Given the description of an element on the screen output the (x, y) to click on. 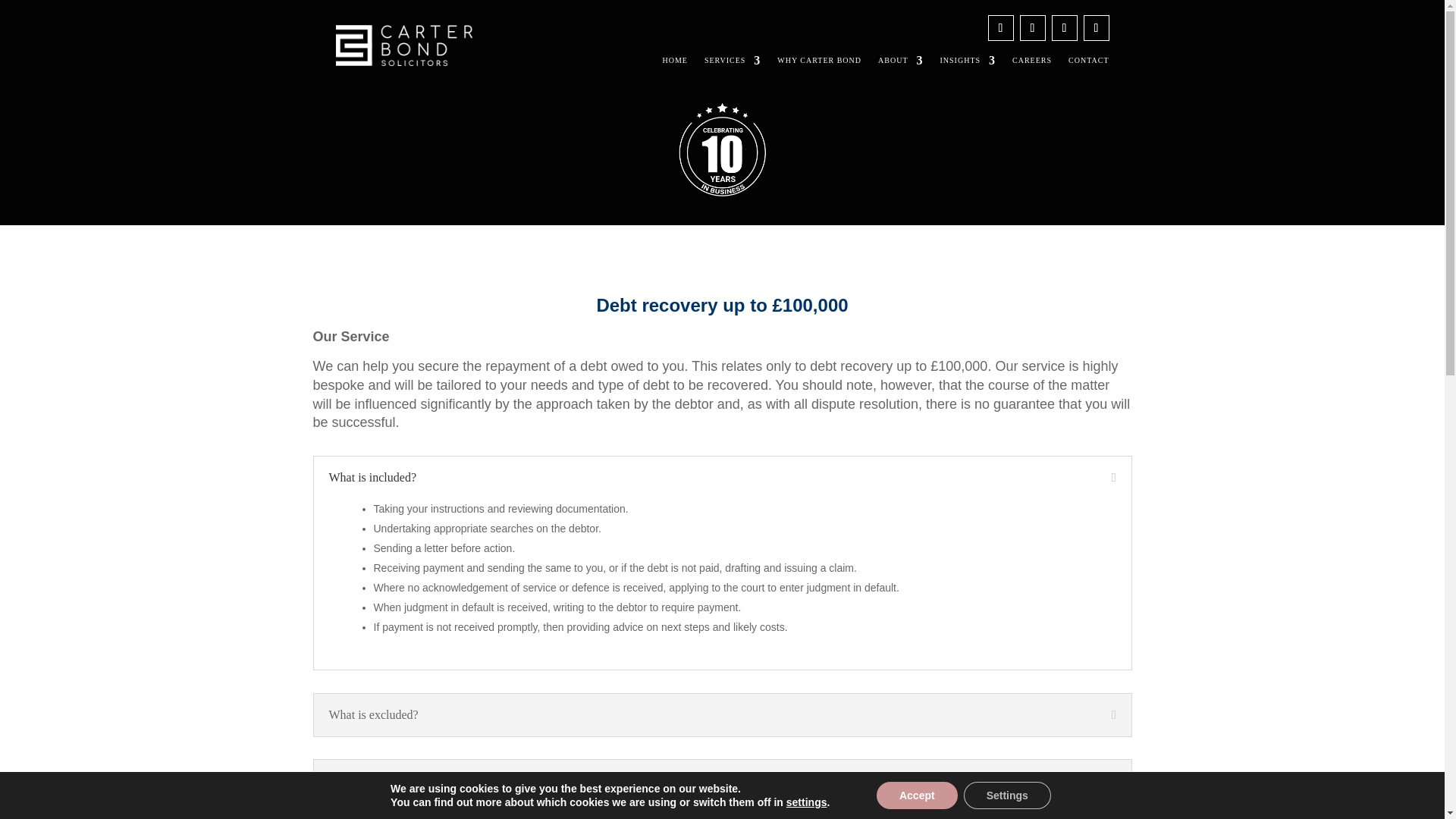
Follow on LinkedIn (1000, 27)
Follow on Youtube (1095, 27)
Follow on Instagram (1064, 27)
10year-2c (721, 149)
Follow on Facebook (1032, 27)
SERVICES (732, 60)
